Given the description of an element on the screen output the (x, y) to click on. 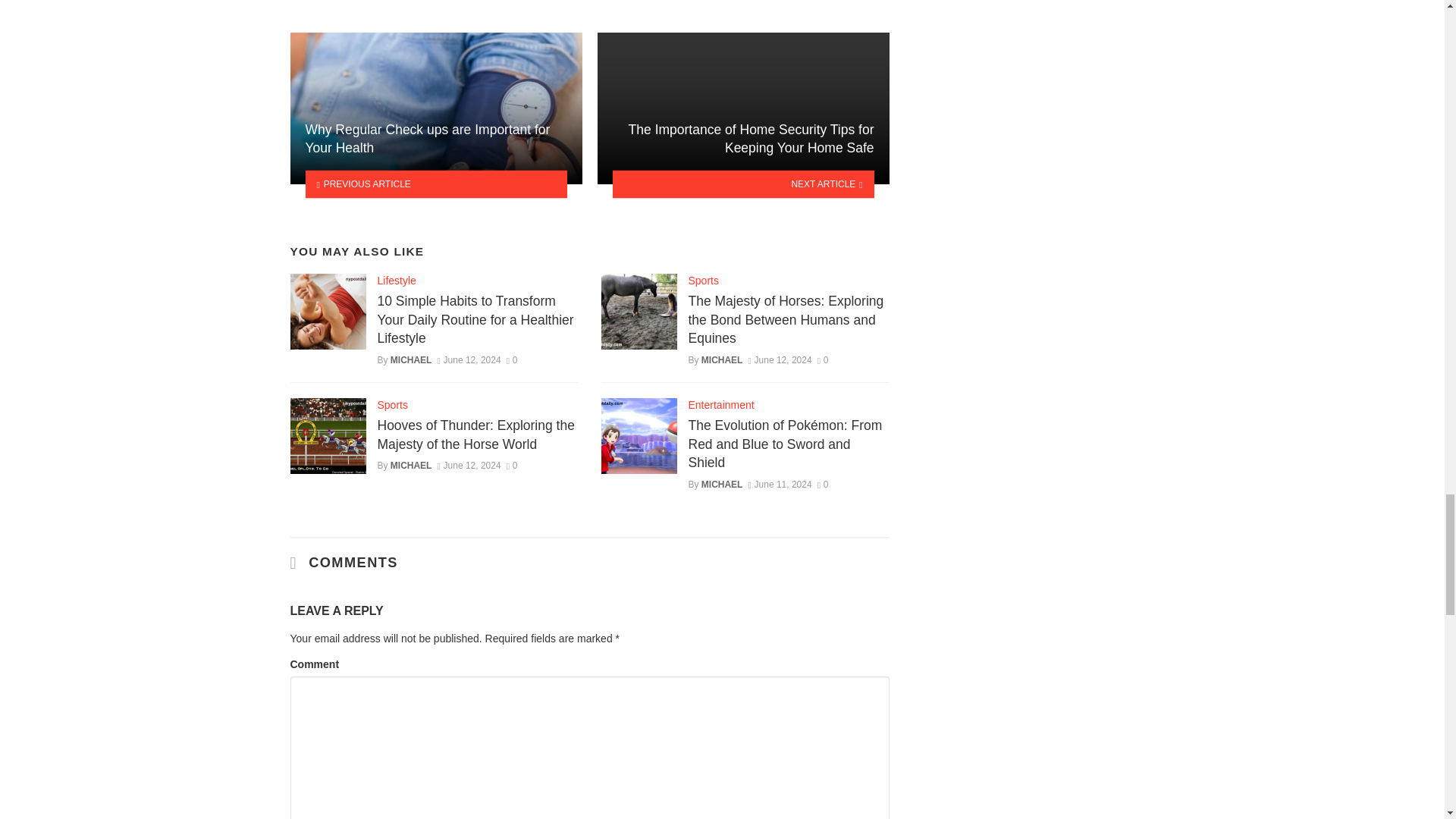
PREVIOUS ARTICLE (434, 183)
June 12, 2024 at 11:12 am (469, 359)
NEXT ARTICLE (742, 183)
